Given the description of an element on the screen output the (x, y) to click on. 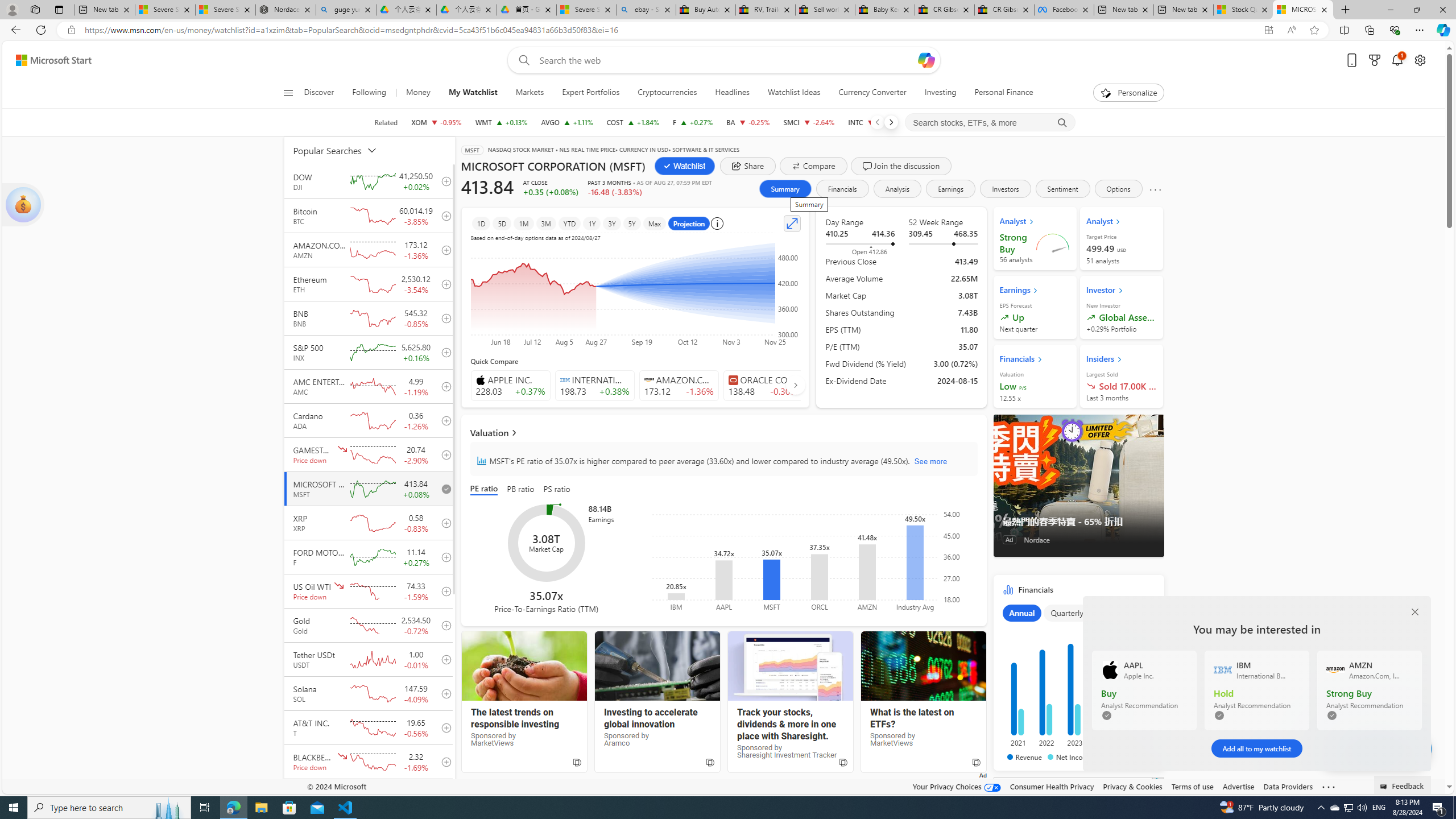
Advertise (1238, 785)
Personal Finance (1003, 92)
3Y (611, 223)
Your Privacy Choices (956, 786)
AutomationID: finance_carousel_navi_right (794, 384)
Open Copilot (926, 59)
Class: qc-adchoices-icon (1158, 782)
Tab actions menu (58, 9)
Previous (876, 122)
See comments 317 (1372, 748)
Open settings (1420, 60)
Browser essentials (1394, 29)
Investing (940, 92)
share dialog (748, 166)
